Given the description of an element on the screen output the (x, y) to click on. 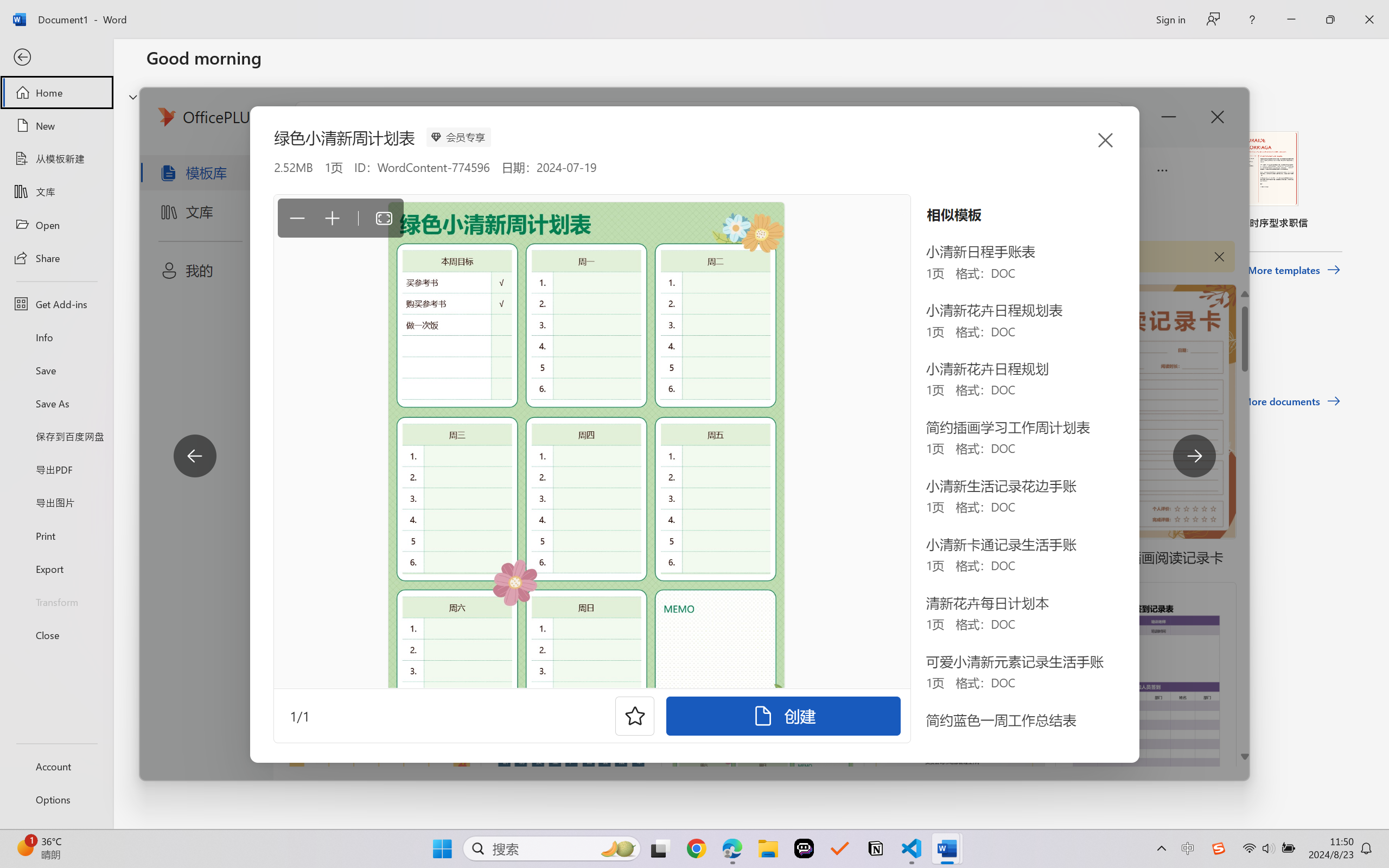
Pinned (226, 345)
More documents (1290, 401)
Recent (171, 345)
Export (56, 568)
Get Add-ins (56, 303)
Back (56, 57)
